Given the description of an element on the screen output the (x, y) to click on. 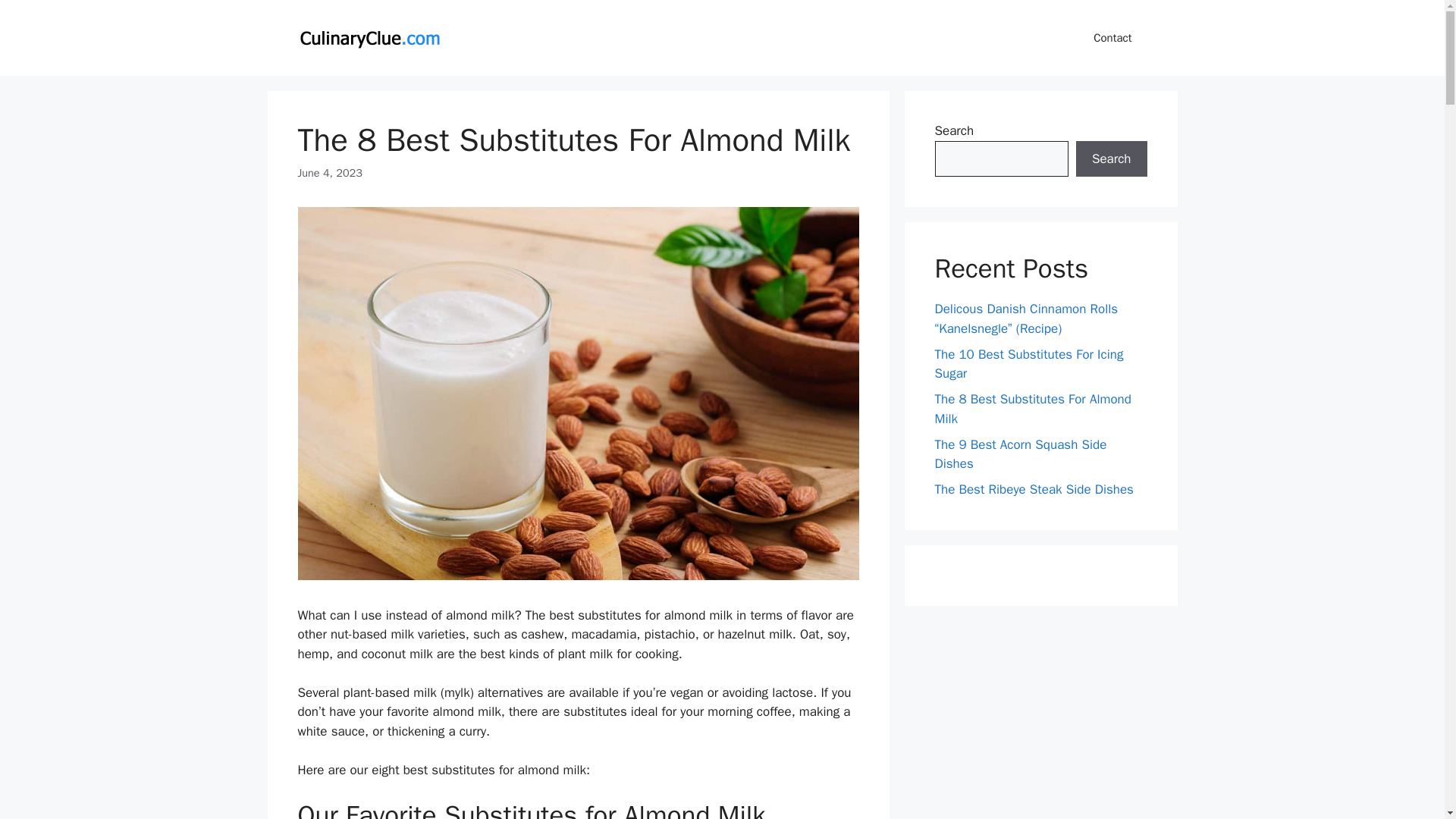
The Best Ribeye Steak Side Dishes (1033, 489)
The 8 Best Substitutes For Almond Milk (1032, 408)
The 10 Best Substitutes For Icing Sugar (1028, 363)
CulinaryClue.com (369, 36)
Search (1111, 158)
Contact (1112, 37)
CulinaryClue.com (369, 37)
The 9 Best Acorn Squash Side Dishes (1020, 454)
